Given the description of an element on the screen output the (x, y) to click on. 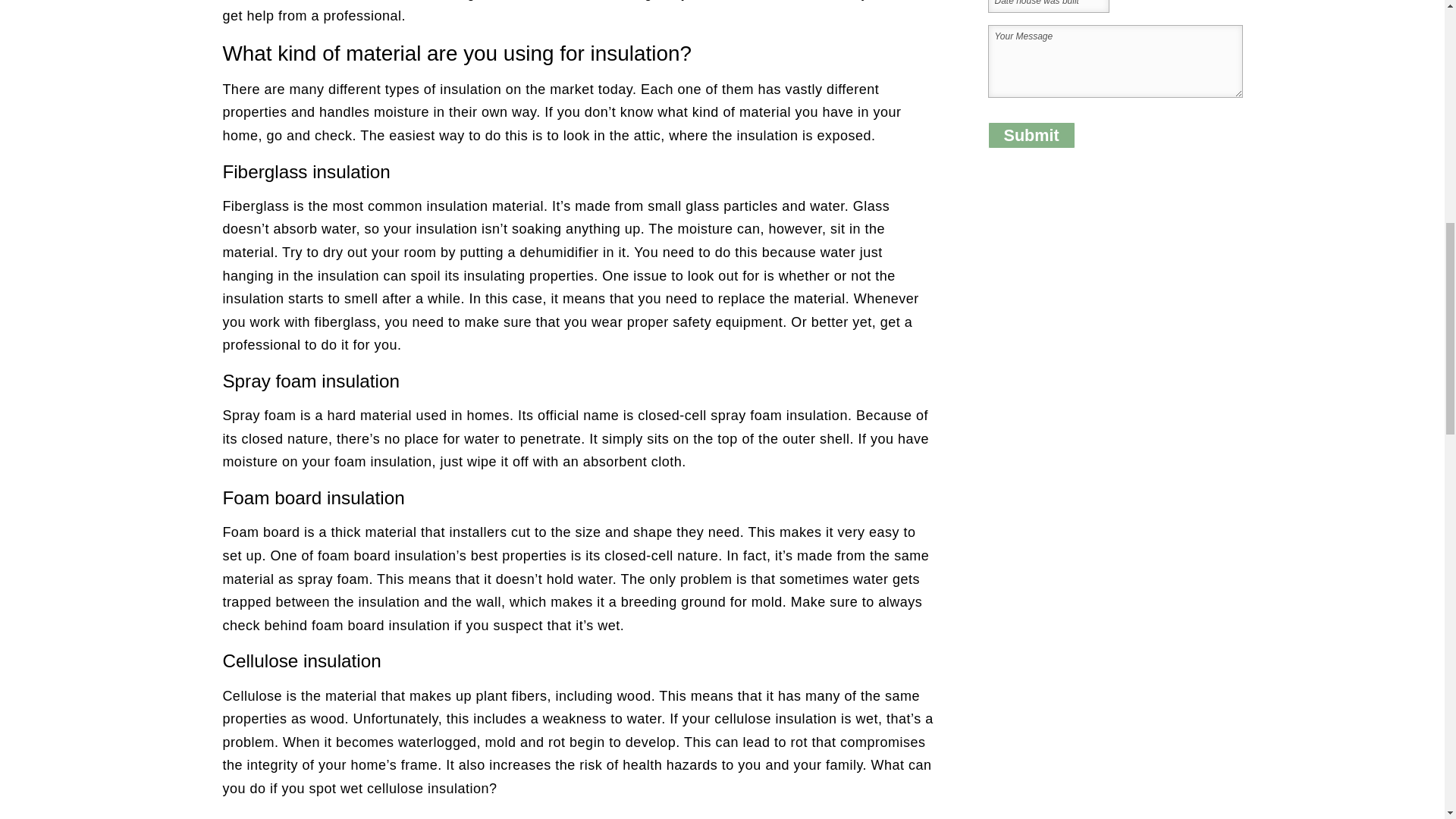
Submit (1030, 135)
Submit (1030, 135)
